Given the description of an element on the screen output the (x, y) to click on. 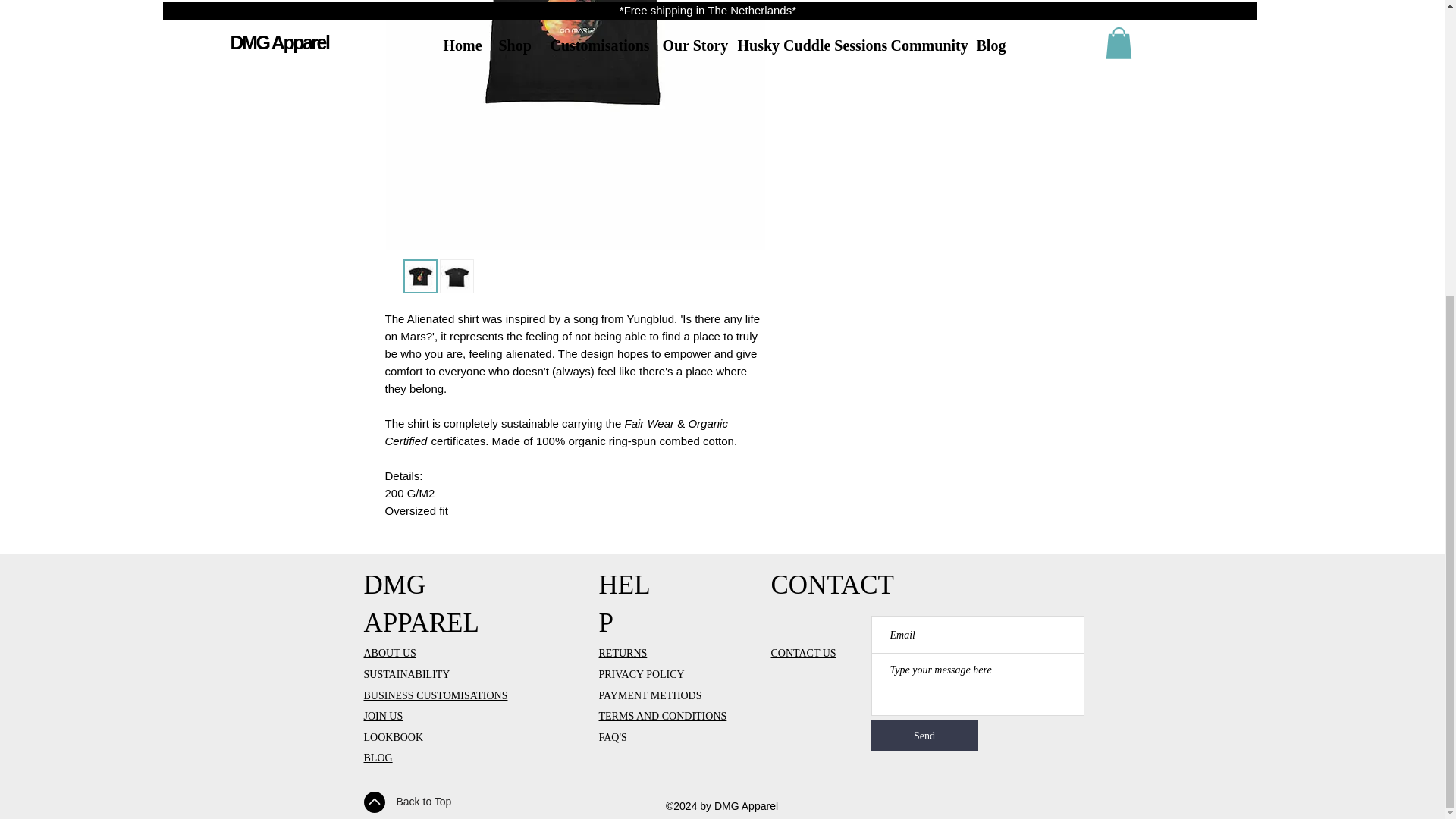
RETURNS (622, 653)
BUSINESS CUSTOMISATIONS (436, 695)
JOIN US (383, 715)
Send (923, 735)
TERMS AND CONDITIONS (662, 715)
BLOG (378, 757)
PRIVACY POLICY (641, 674)
Back to Top (423, 801)
ABOUT US (390, 653)
FAQ'S (612, 736)
LOOKBOOK (393, 736)
CONTACT US (802, 653)
